Given the description of an element on the screen output the (x, y) to click on. 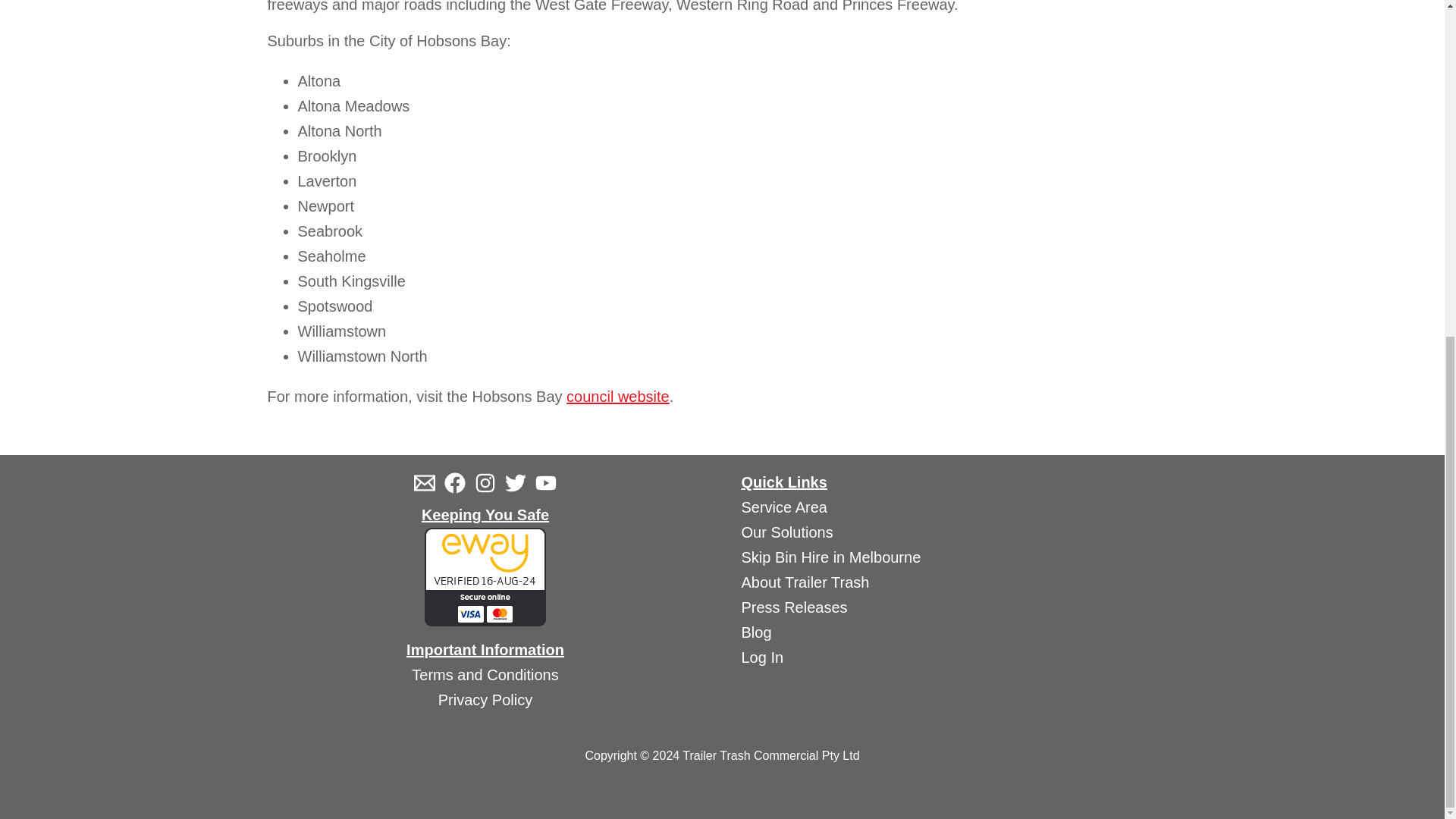
council website (617, 396)
Skip Bin Hire in Melbourne (831, 556)
Service Area (784, 506)
Terms and Conditions (484, 674)
Eway Payment Gateway (485, 575)
Our Solutions (786, 532)
Press Releases (794, 606)
Privacy Policy (485, 699)
About Trailer Trash (805, 582)
